Given the description of an element on the screen output the (x, y) to click on. 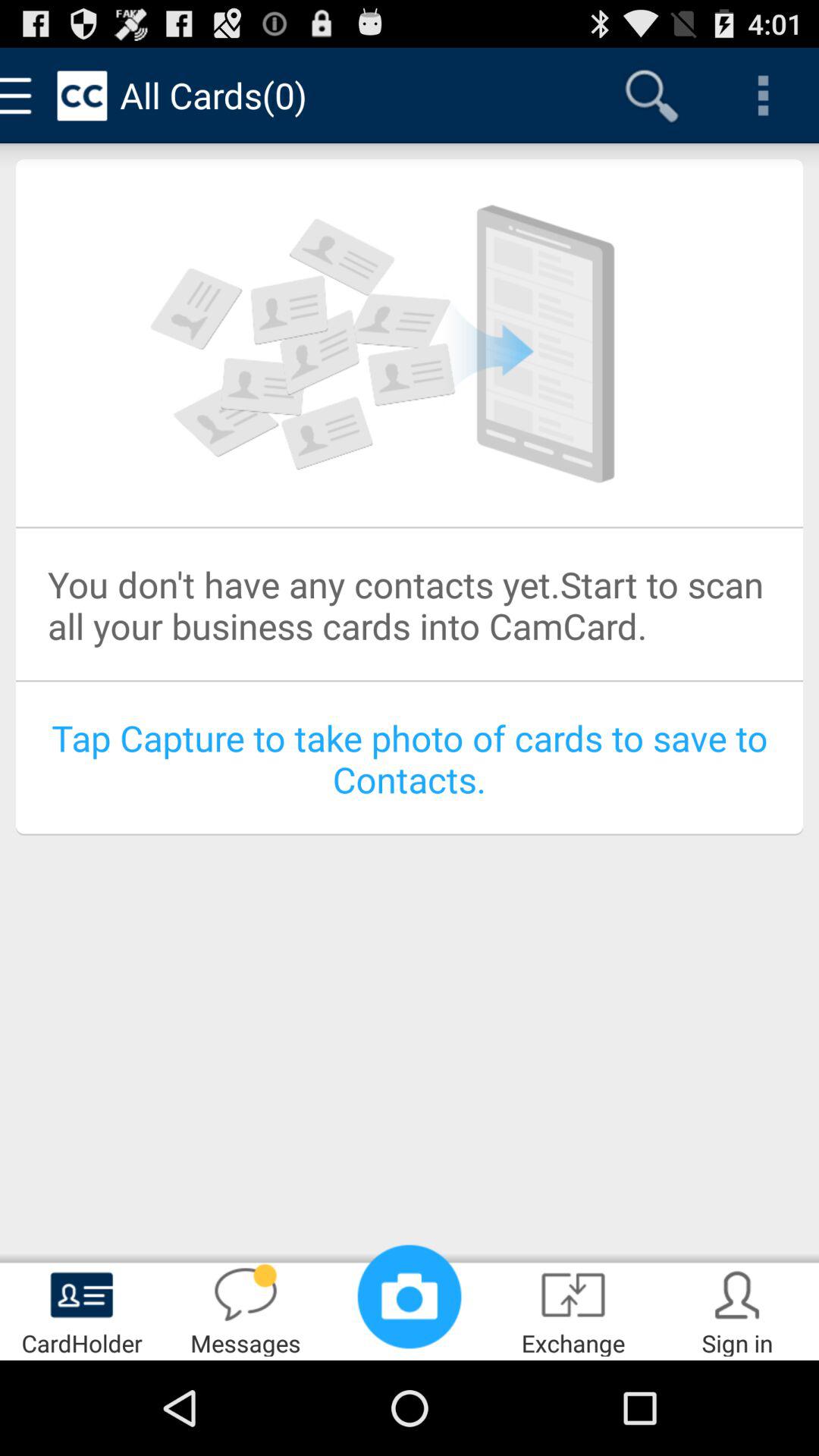
select the blue coloured text (409, 758)
go to 3 dots on top right of page (763, 95)
select to image which is under the all cards (409, 343)
option left to sign in at bottom right (573, 1309)
